Given the description of an element on the screen output the (x, y) to click on. 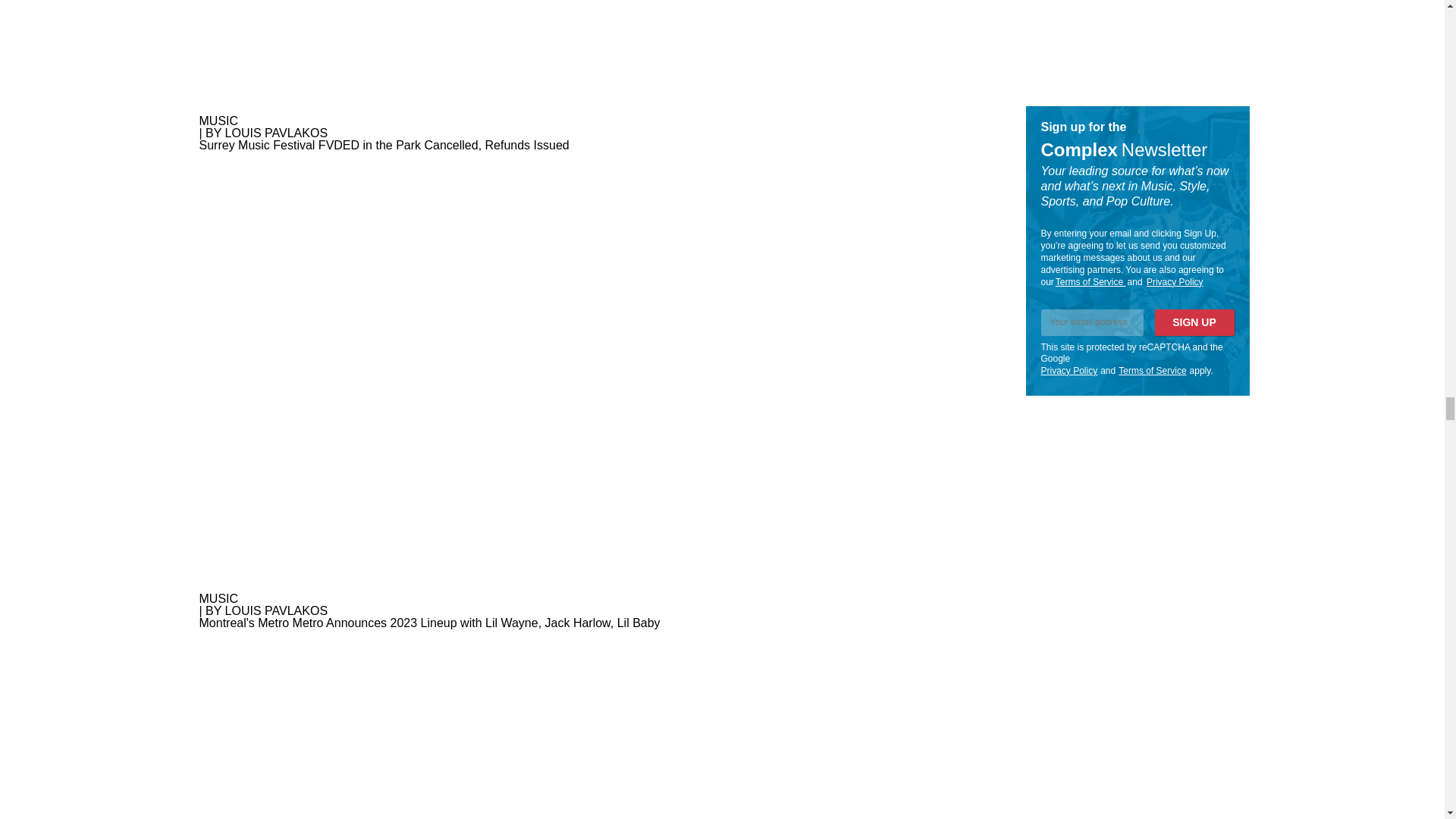
jack harlow performing live (591, 57)
